Given the description of an element on the screen output the (x, y) to click on. 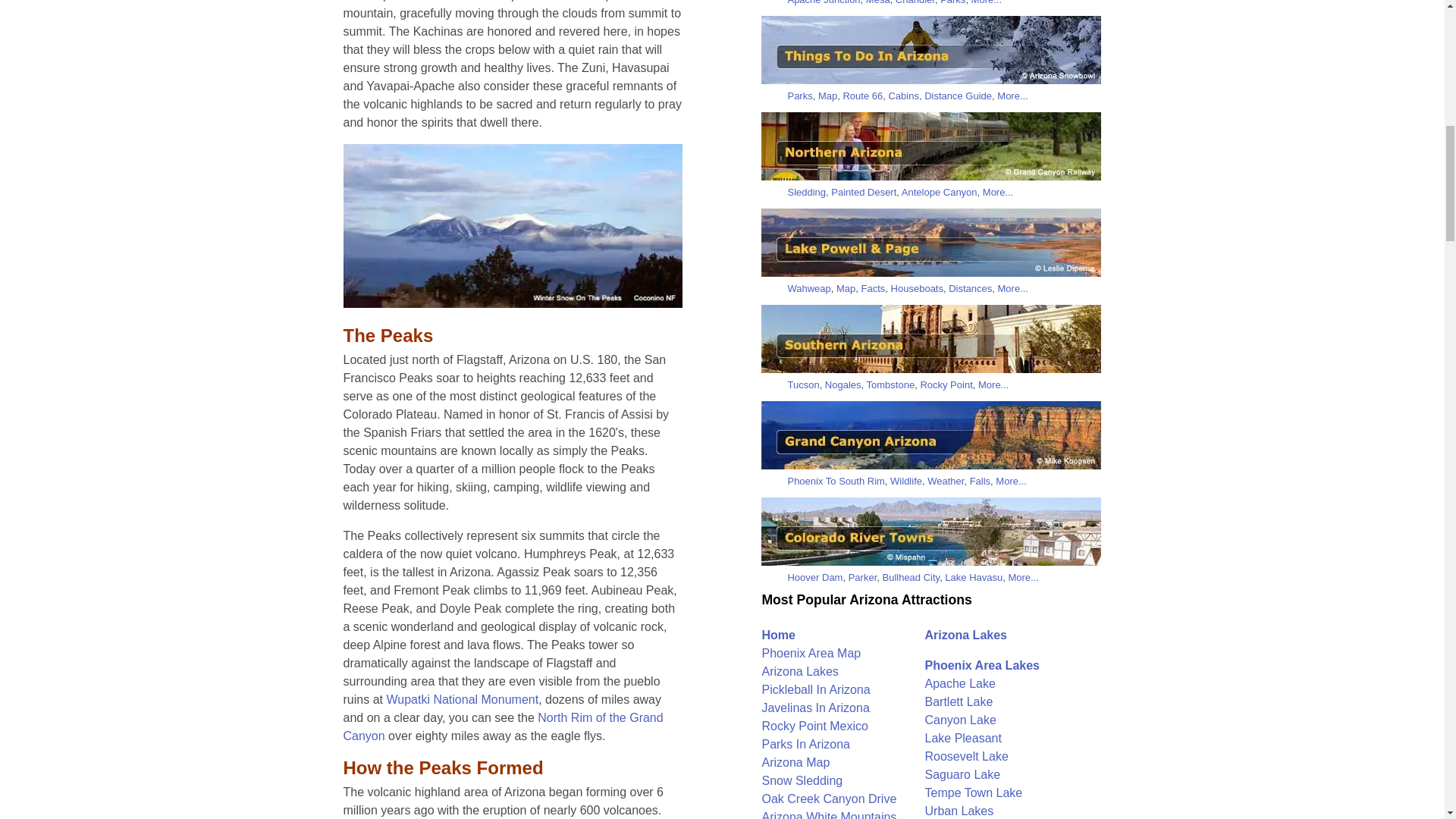
North Rim of the Grand Canyon (502, 726)
Wupatki National Monument (461, 698)
